Given the description of an element on the screen output the (x, y) to click on. 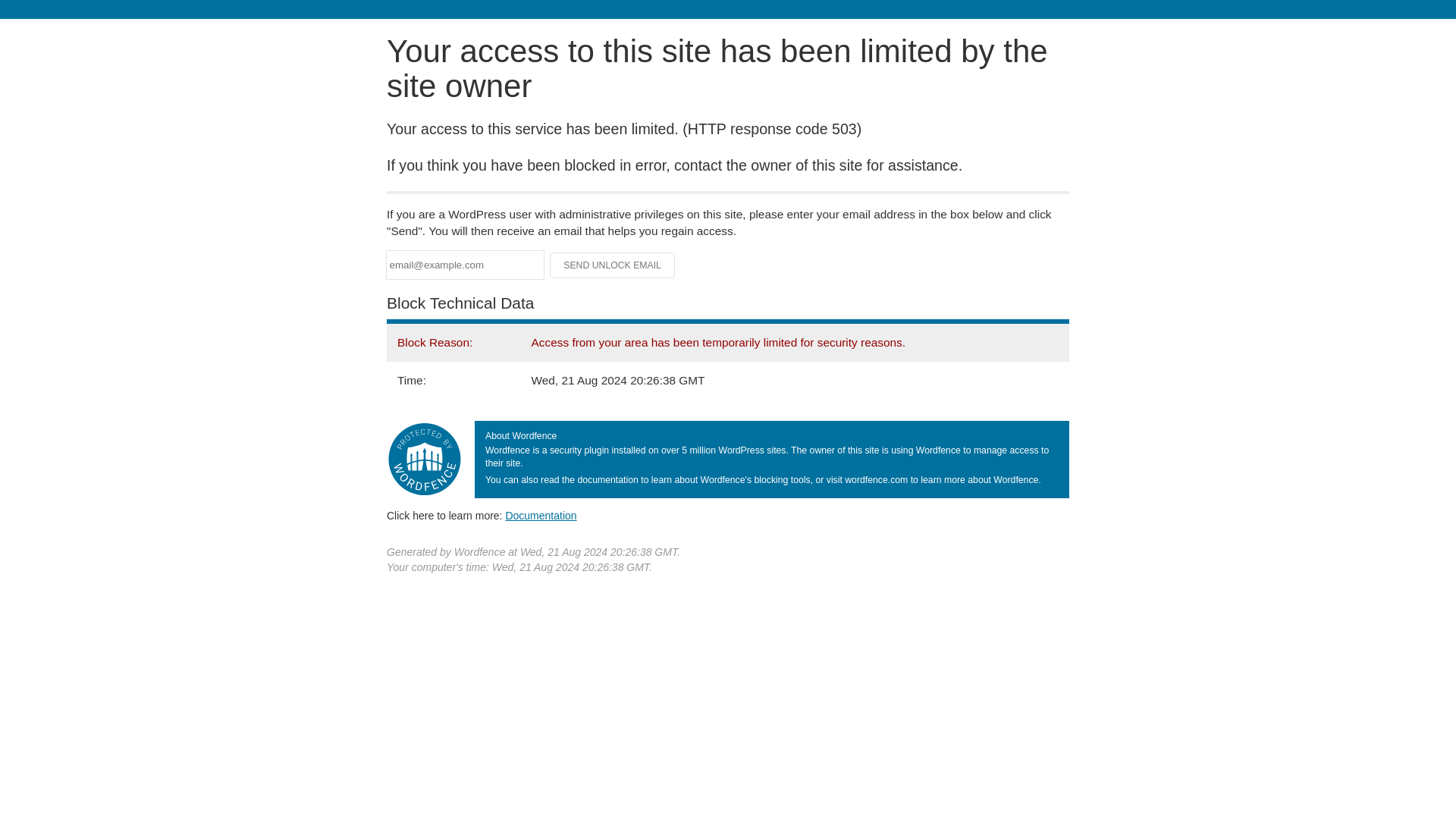
Documentation (540, 515)
Send Unlock Email (612, 265)
Send Unlock Email (612, 265)
